Given the description of an element on the screen output the (x, y) to click on. 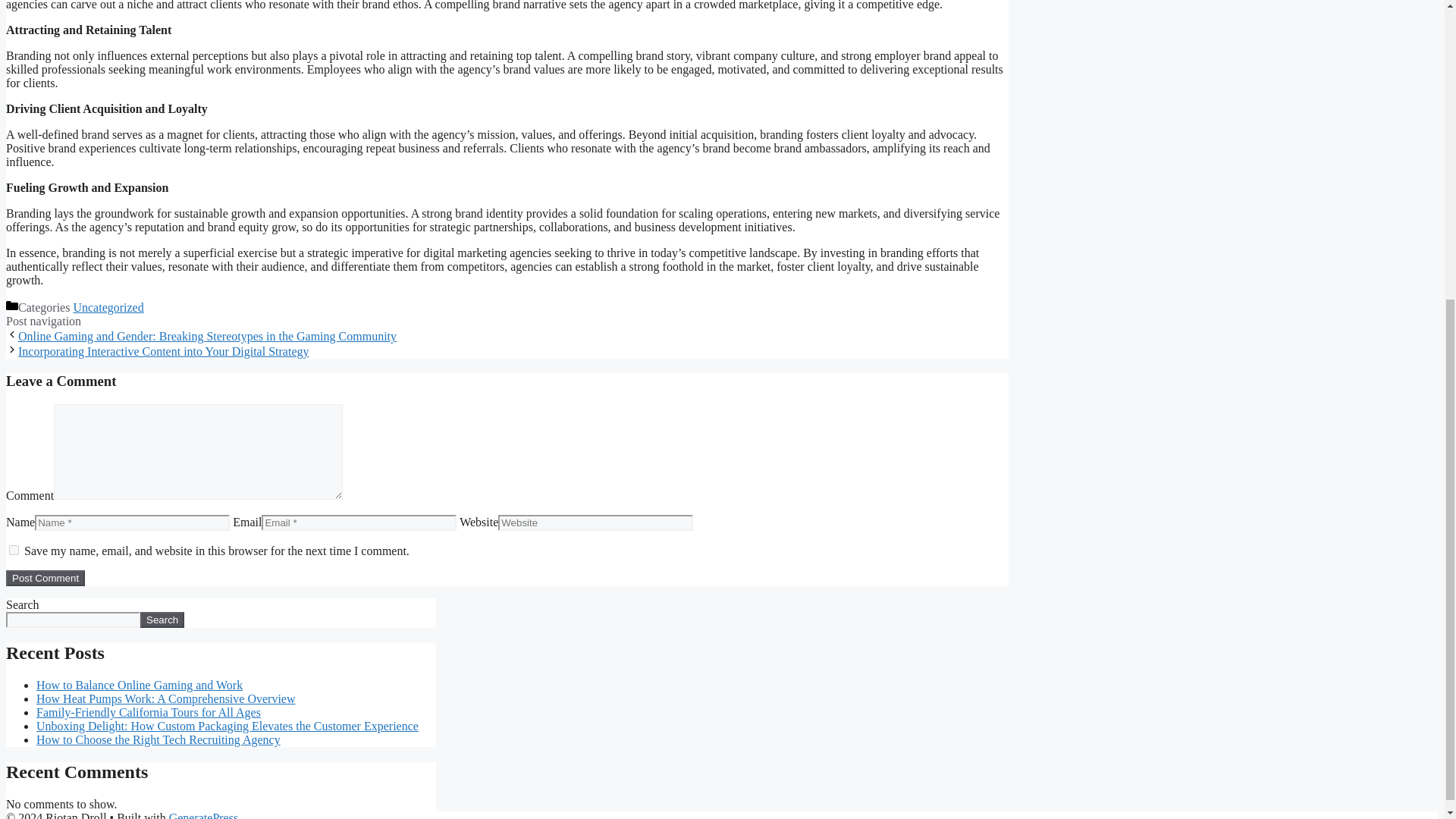
Next (162, 350)
Search (161, 619)
Incorporating Interactive Content into Your Digital Strategy (162, 350)
How Heat Pumps Work: A Comprehensive Overview (165, 698)
Post Comment (44, 578)
How to Balance Online Gaming and Work (139, 684)
yes (13, 550)
Previous (206, 336)
Post Comment (44, 578)
Family-Friendly California Tours for All Ages (148, 712)
Uncategorized (107, 307)
How to Choose the Right Tech Recruiting Agency (158, 739)
